Given the description of an element on the screen output the (x, y) to click on. 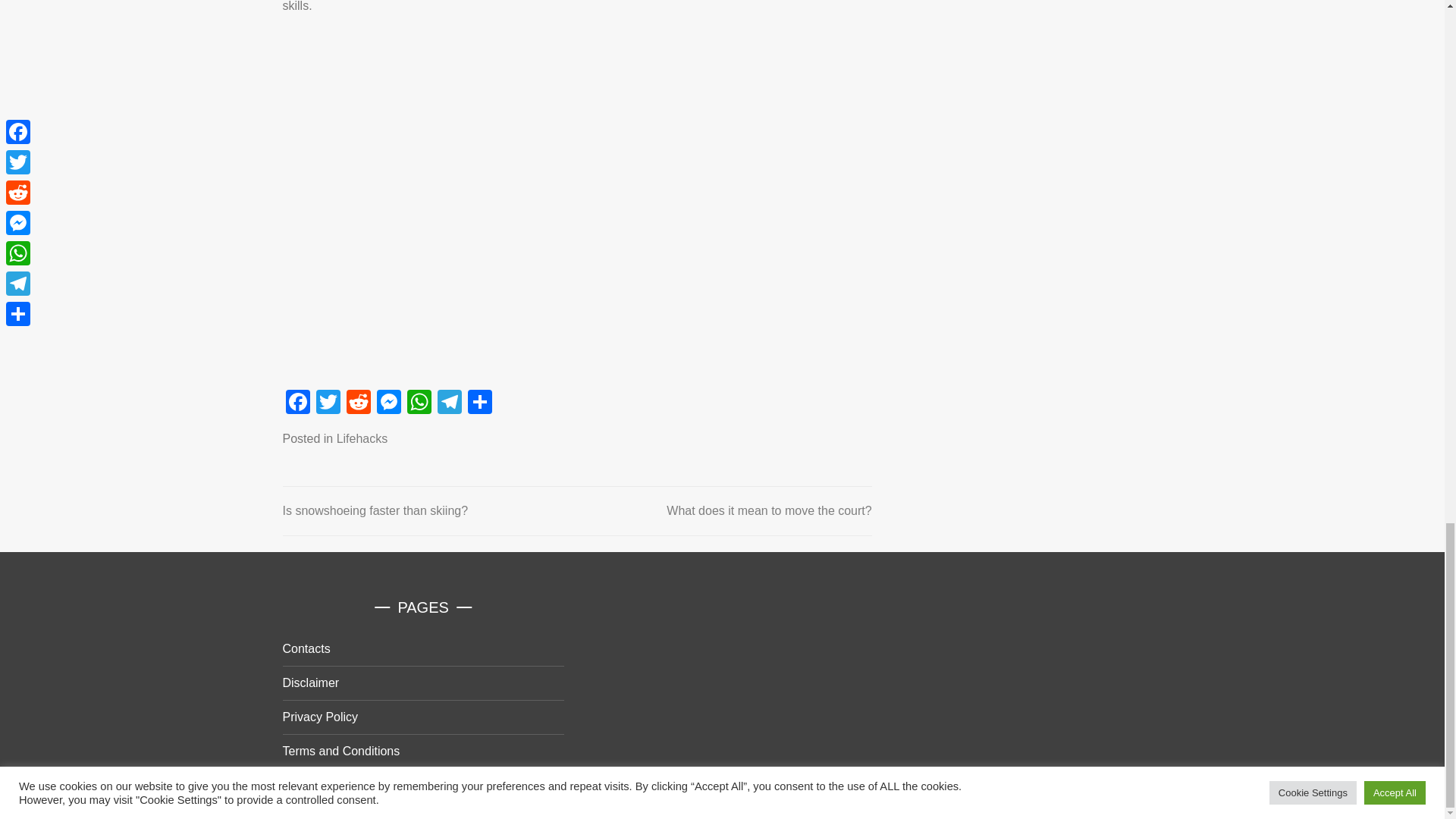
Messenger (387, 403)
WhatsApp (418, 403)
Is snowshoeing faster than skiing? (374, 510)
Facebook (297, 403)
WhatsApp (418, 403)
Reddit (357, 403)
Twitter (327, 403)
Facebook (297, 403)
Telegram (448, 403)
Messenger (387, 403)
What does it mean to move the court? (768, 510)
Lifehacks (362, 438)
Twitter (327, 403)
Reddit (357, 403)
Telegram (448, 403)
